Given the description of an element on the screen output the (x, y) to click on. 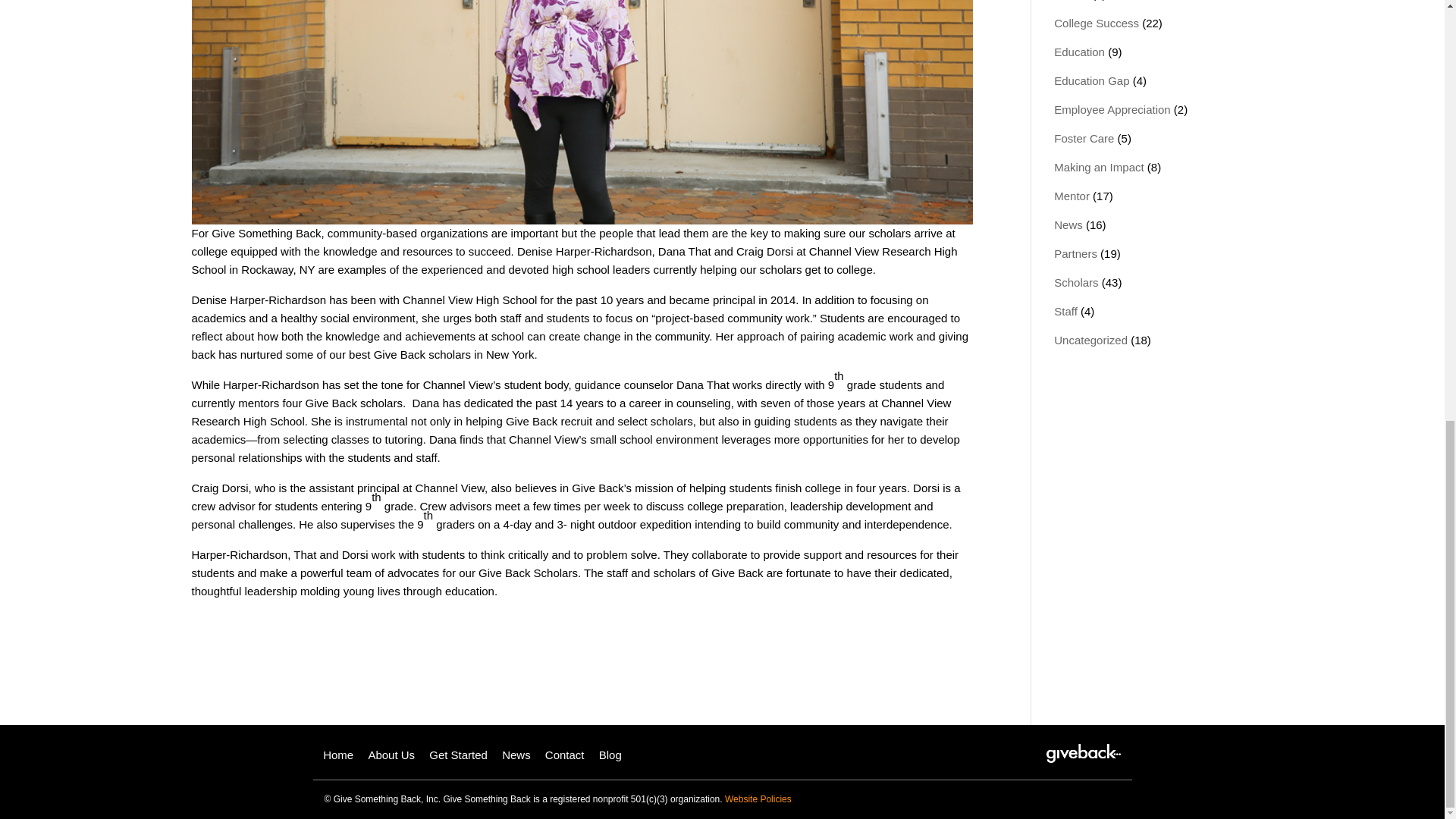
Employee Appreciation (1112, 109)
College Success (1096, 22)
Making an Impact (1098, 166)
Education (1079, 51)
Education Gap (1091, 80)
Foster Care (1083, 137)
